Given the description of an element on the screen output the (x, y) to click on. 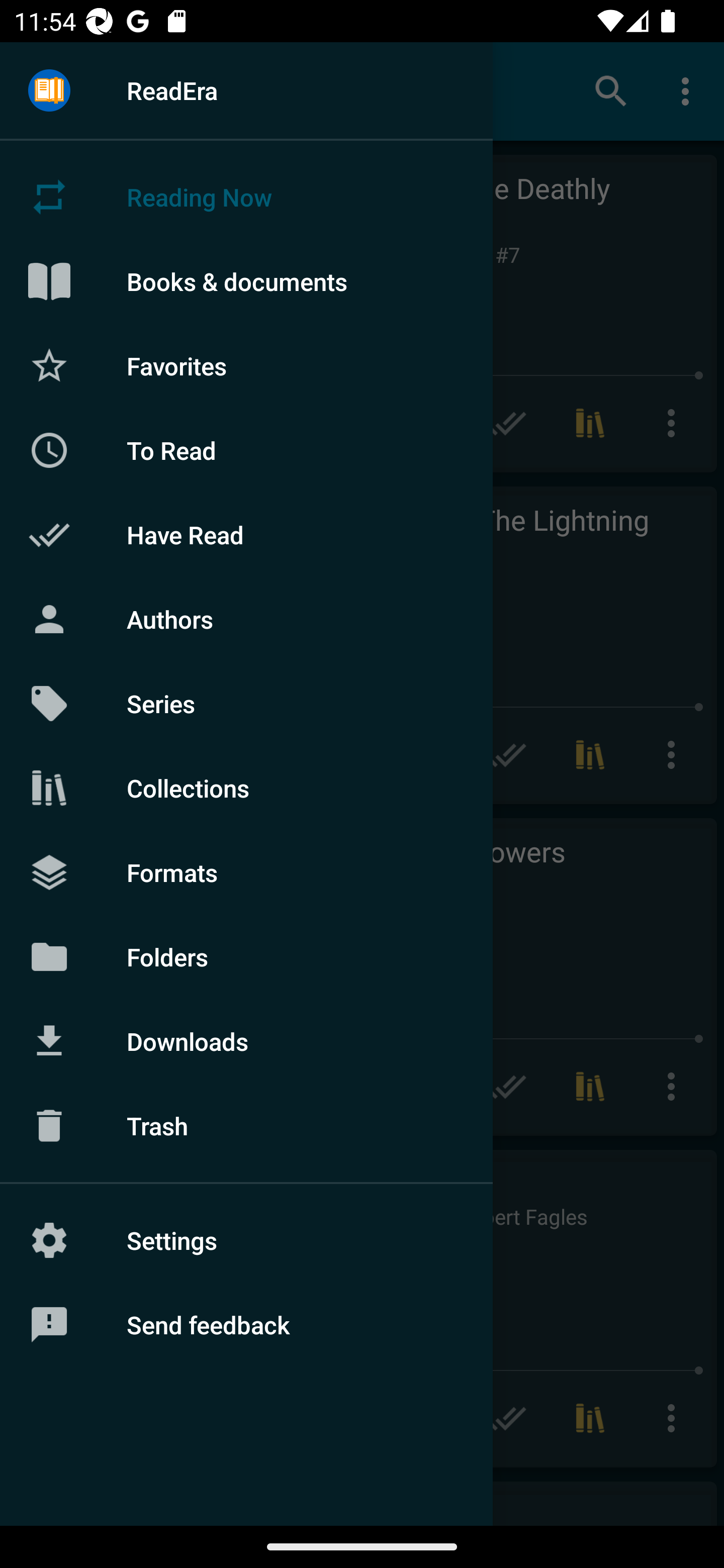
Menu (49, 91)
ReadEra (246, 89)
Search books & documents (611, 90)
More options (688, 90)
Reading Now (246, 197)
Books & documents (246, 281)
Favorites (246, 365)
To Read (246, 449)
Have Read (246, 534)
Authors (246, 619)
Series (246, 703)
Collections (246, 787)
Formats (246, 871)
Folders (246, 956)
Downloads (246, 1040)
Trash (246, 1125)
Settings (246, 1239)
Send feedback (246, 1324)
